Given the description of an element on the screen output the (x, y) to click on. 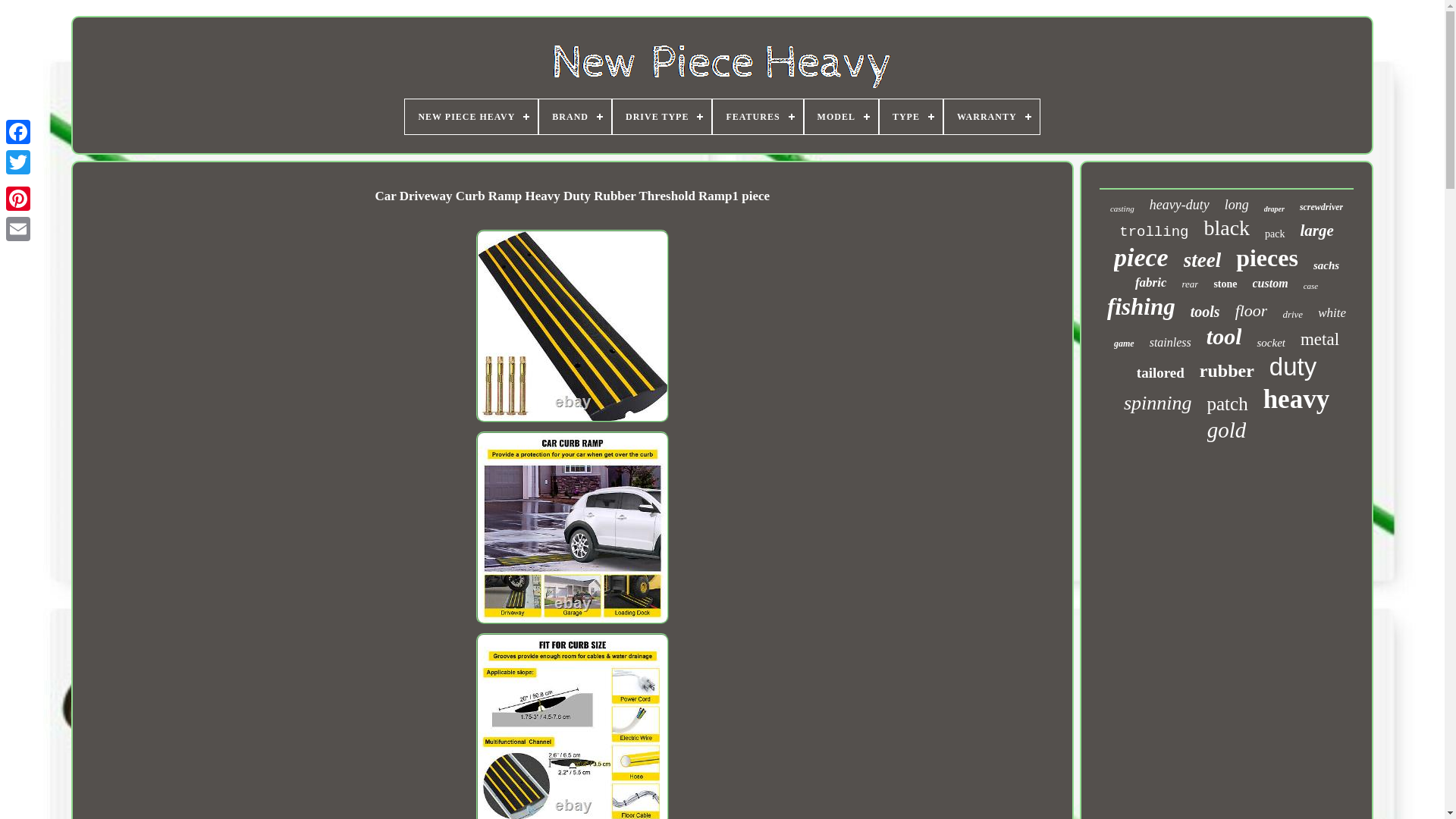
BRAND (574, 116)
NEW PIECE HEAVY (470, 116)
DRIVE TYPE (661, 116)
